Given the description of an element on the screen output the (x, y) to click on. 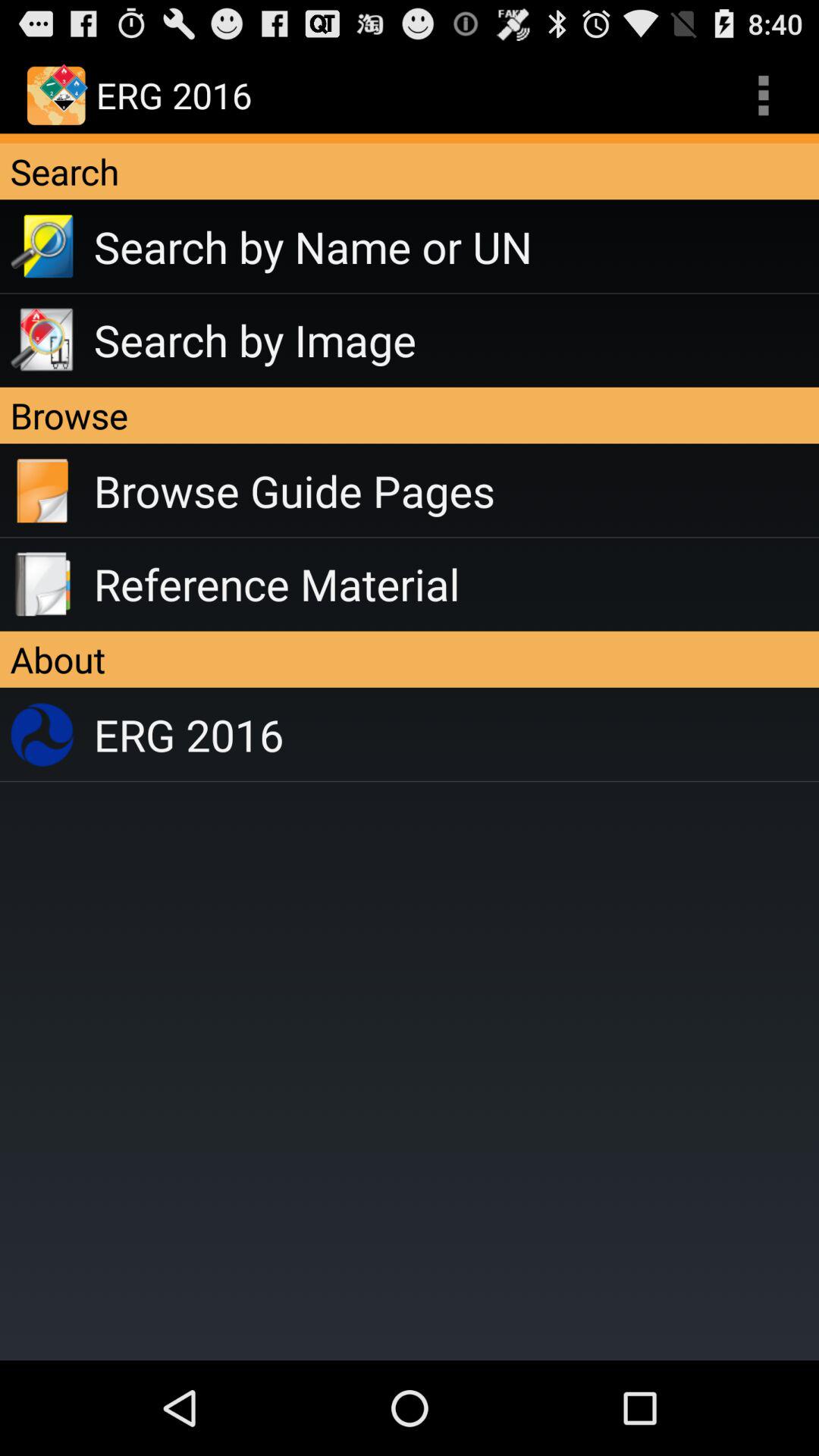
choose the app above search icon (763, 95)
